Given the description of an element on the screen output the (x, y) to click on. 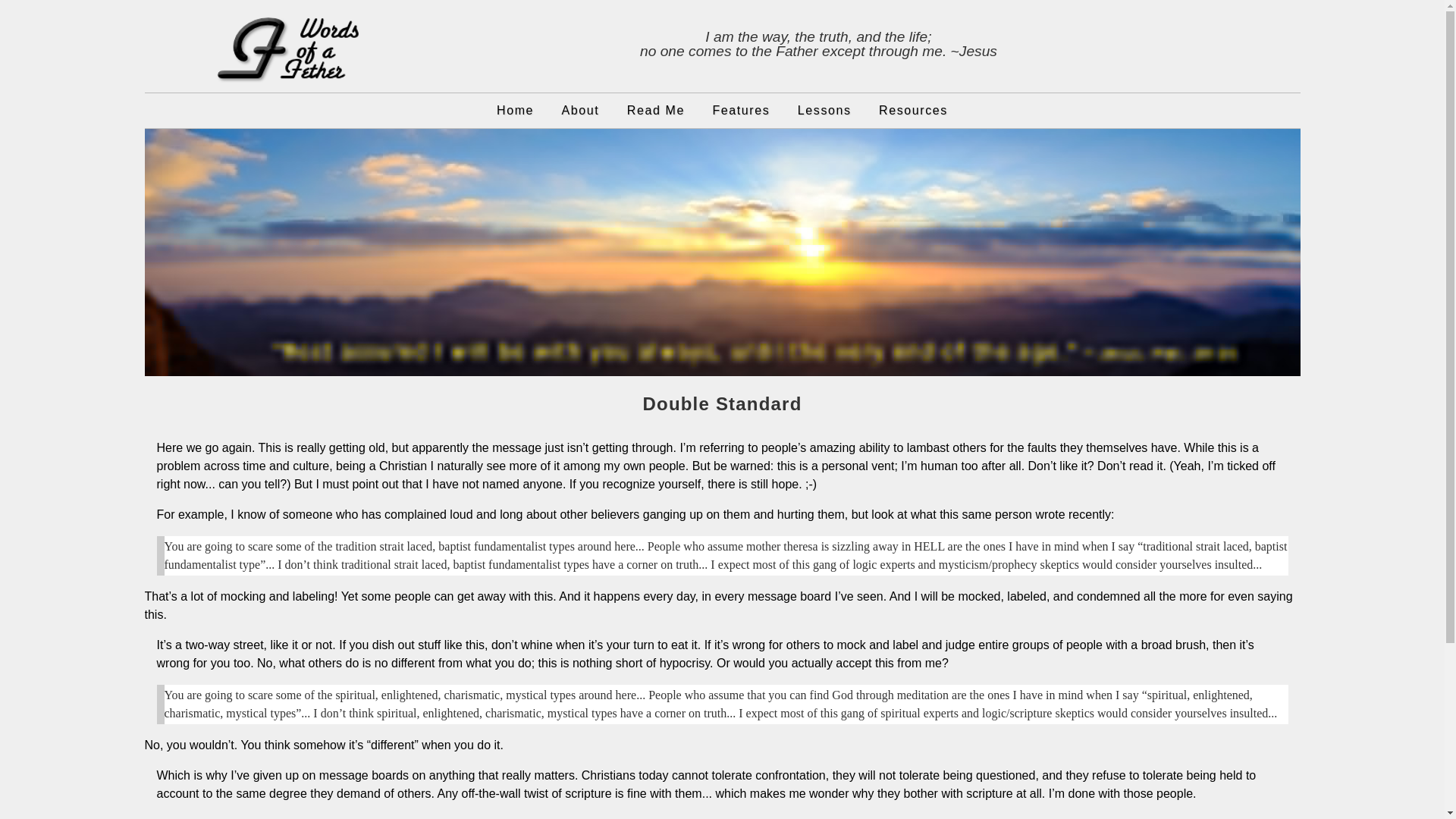
Resources (912, 110)
Home (515, 110)
Read Me (655, 110)
Features (740, 110)
Lessons (824, 110)
About (580, 110)
